Given the description of an element on the screen output the (x, y) to click on. 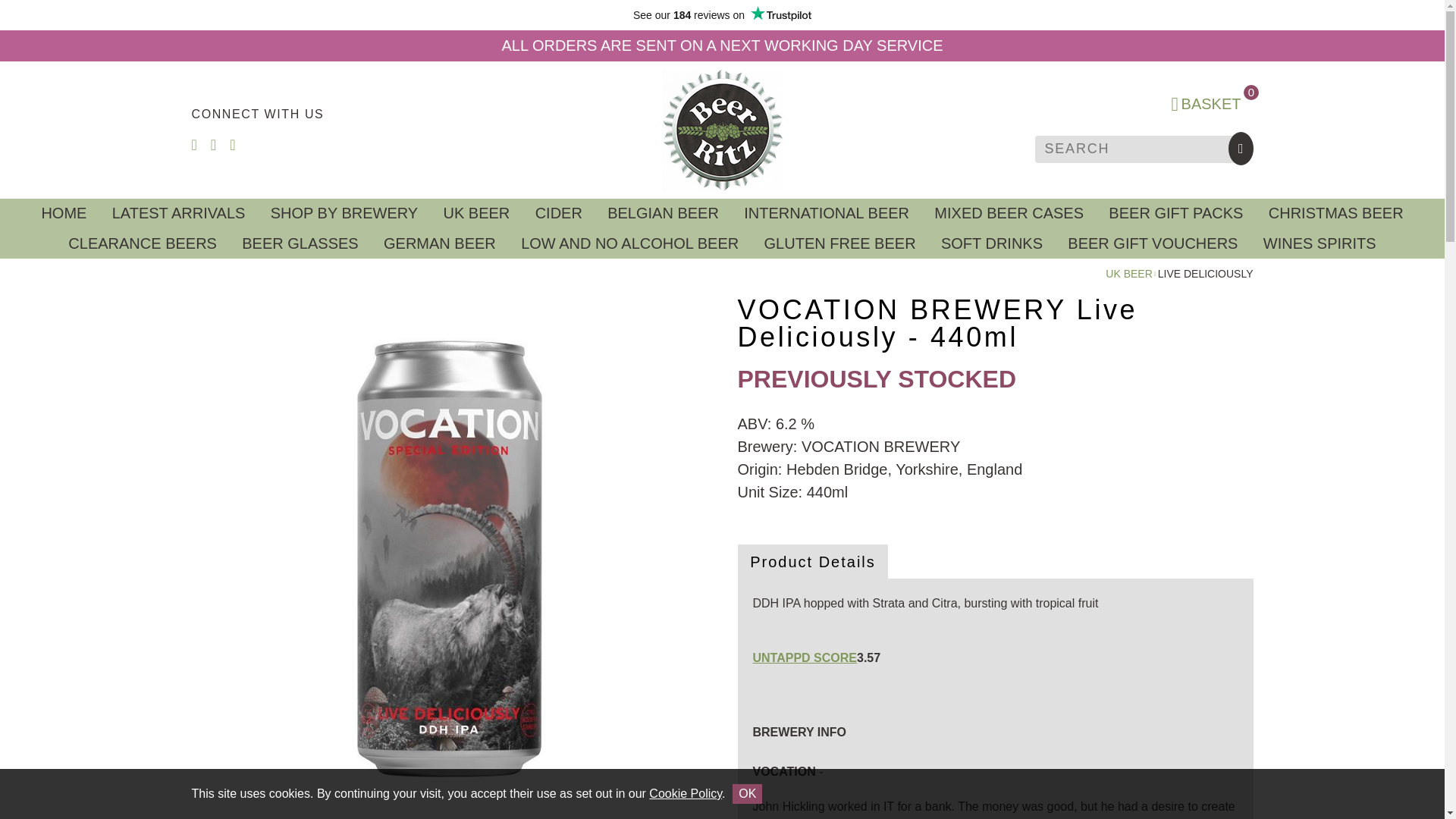
LATEST ARRIVALS (178, 214)
GERMAN BEER (439, 243)
INTERNATIONAL BEER (826, 214)
UNTAPPD SCORE (804, 657)
BEER GIFT PACKS (1175, 214)
BEER GLASSES (300, 243)
GLUTEN FREE BEER (839, 243)
UK BEER (1128, 273)
CLEARANCE BEERS (143, 243)
MIXED BEER CASES (1008, 214)
SHOP BY BREWERY (343, 214)
UK BEER (476, 214)
CIDER (558, 214)
HOME (64, 214)
CHRISTMAS BEER (1335, 214)
